Given the description of an element on the screen output the (x, y) to click on. 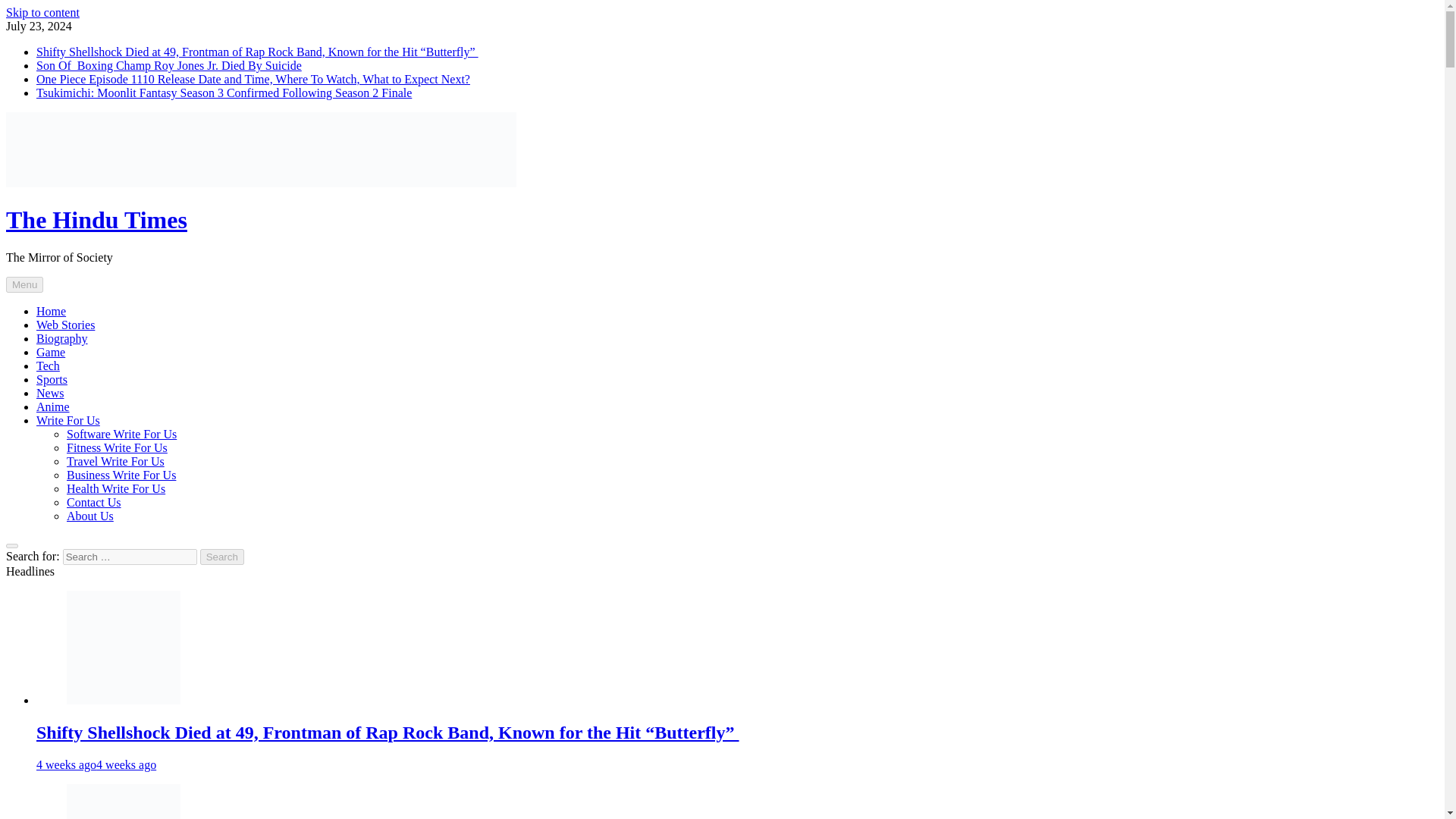
Sports (51, 379)
Health Write For Us (115, 488)
About Us (89, 515)
Travel Write For Us (115, 461)
Skip to content (42, 11)
4 weeks ago4 weeks ago (95, 764)
Search (222, 556)
Son Of  Boxing Champ Roy Jones Jr. Died By Suicide (168, 65)
Business Write For Us (121, 474)
Software Write For Us (121, 433)
Write For Us (68, 420)
Biography (61, 338)
Web Stories (65, 324)
